Given the description of an element on the screen output the (x, y) to click on. 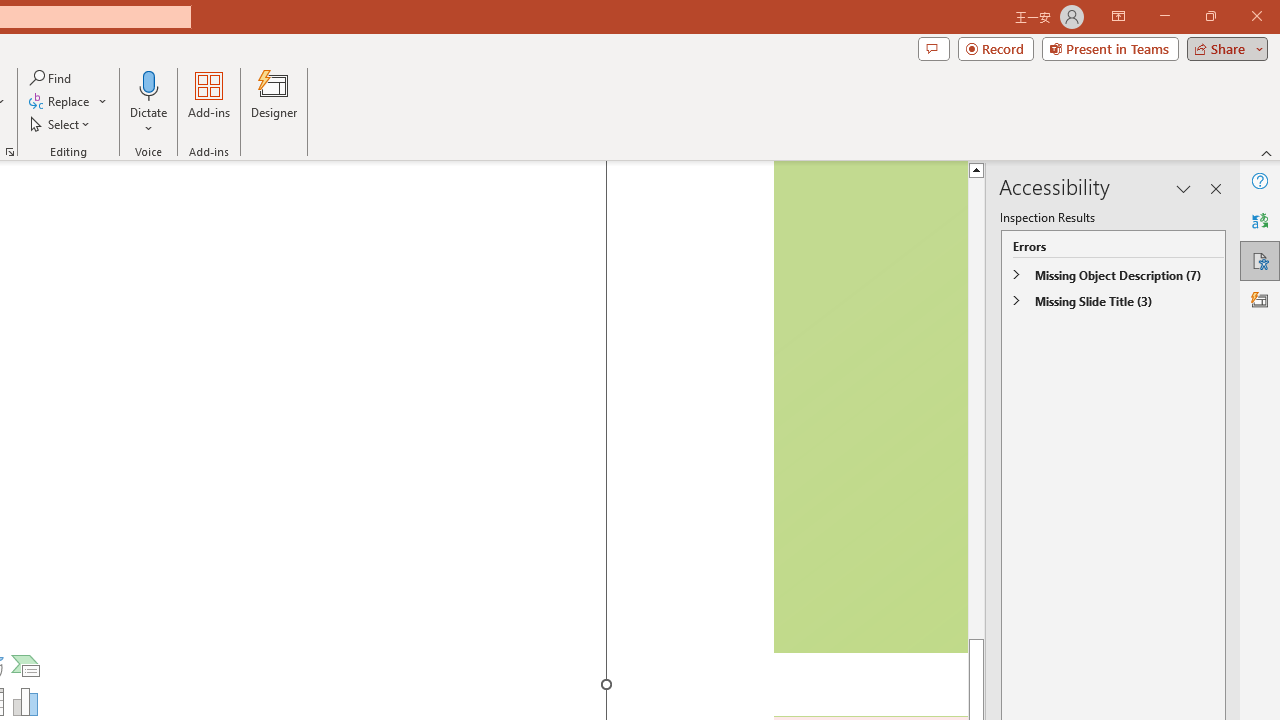
Camera 5, No camera detected. (869, 407)
